Given the description of an element on the screen output the (x, y) to click on. 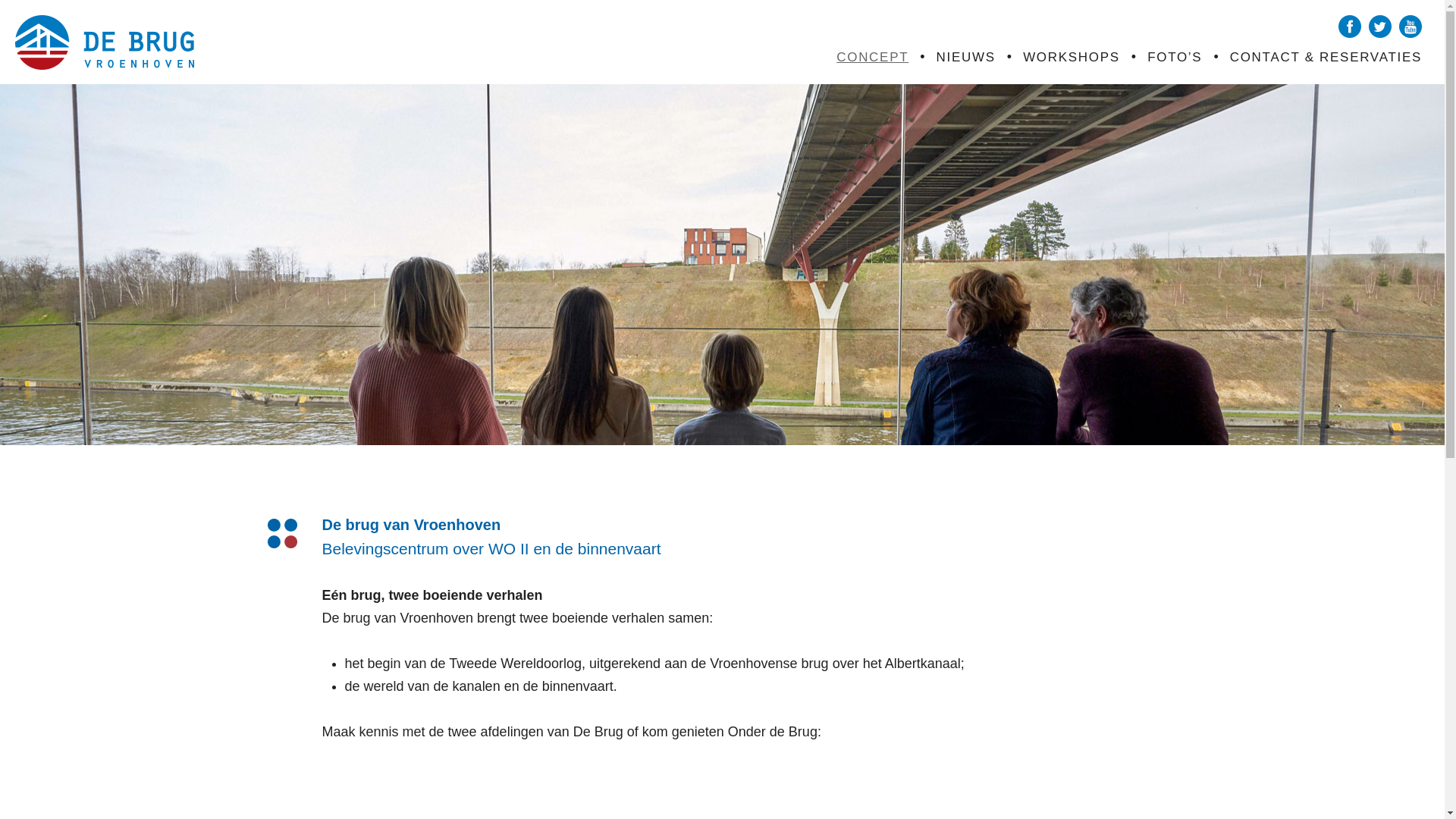
Facebook Element type: hover (1349, 26)
WORKSHOPS Element type: text (1071, 57)
Twitter Element type: hover (1380, 26)
CONCEPT Element type: text (872, 57)
NIEUWS Element type: text (965, 57)
CONTACT & RESERVATIES Element type: text (1325, 57)
Youtube Element type: hover (1410, 26)
